Given the description of an element on the screen output the (x, y) to click on. 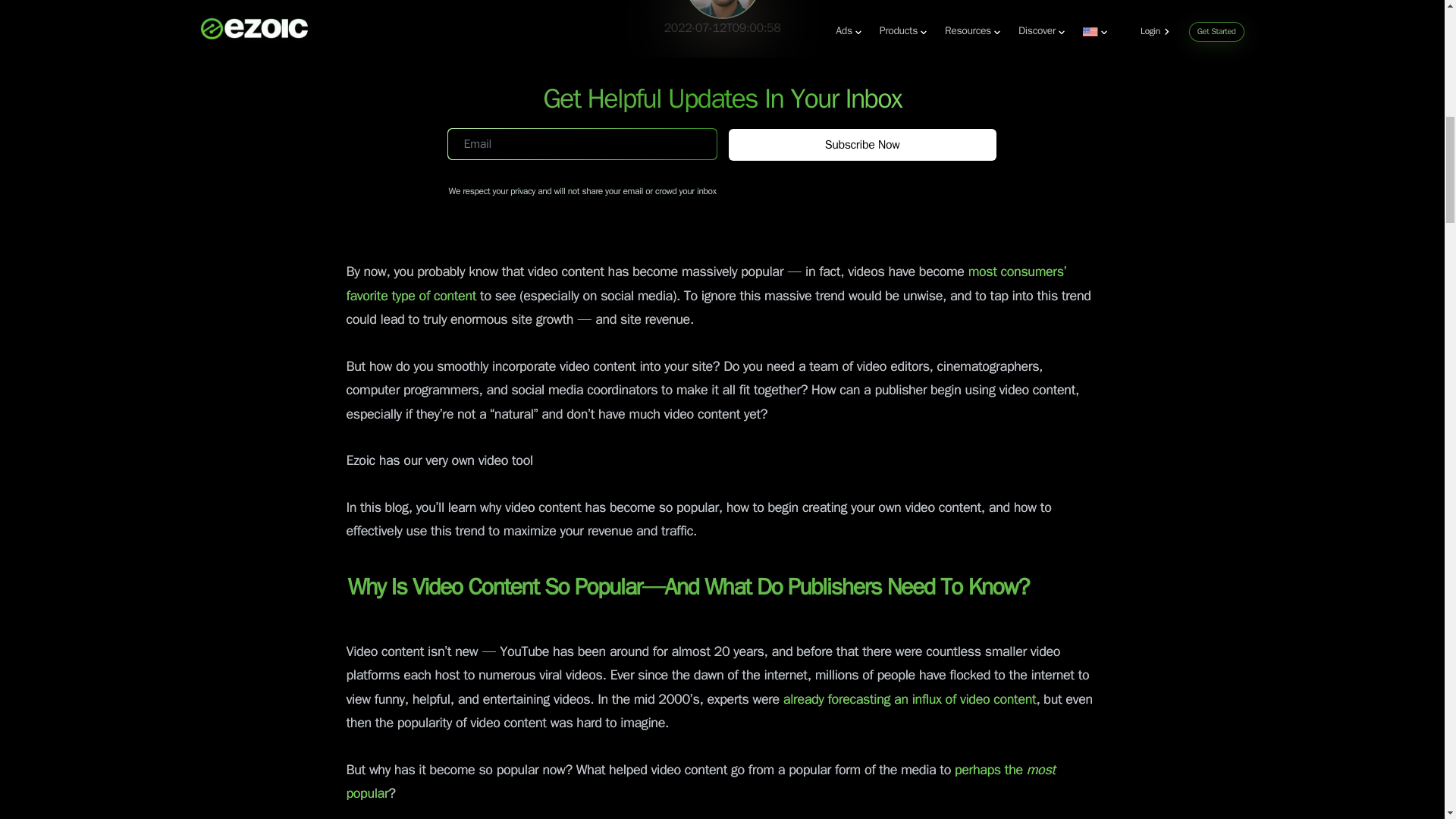
perhaps the most popular (700, 782)
Subscribe Now (861, 144)
already forecasting an influx of video content (907, 699)
